Given the description of an element on the screen output the (x, y) to click on. 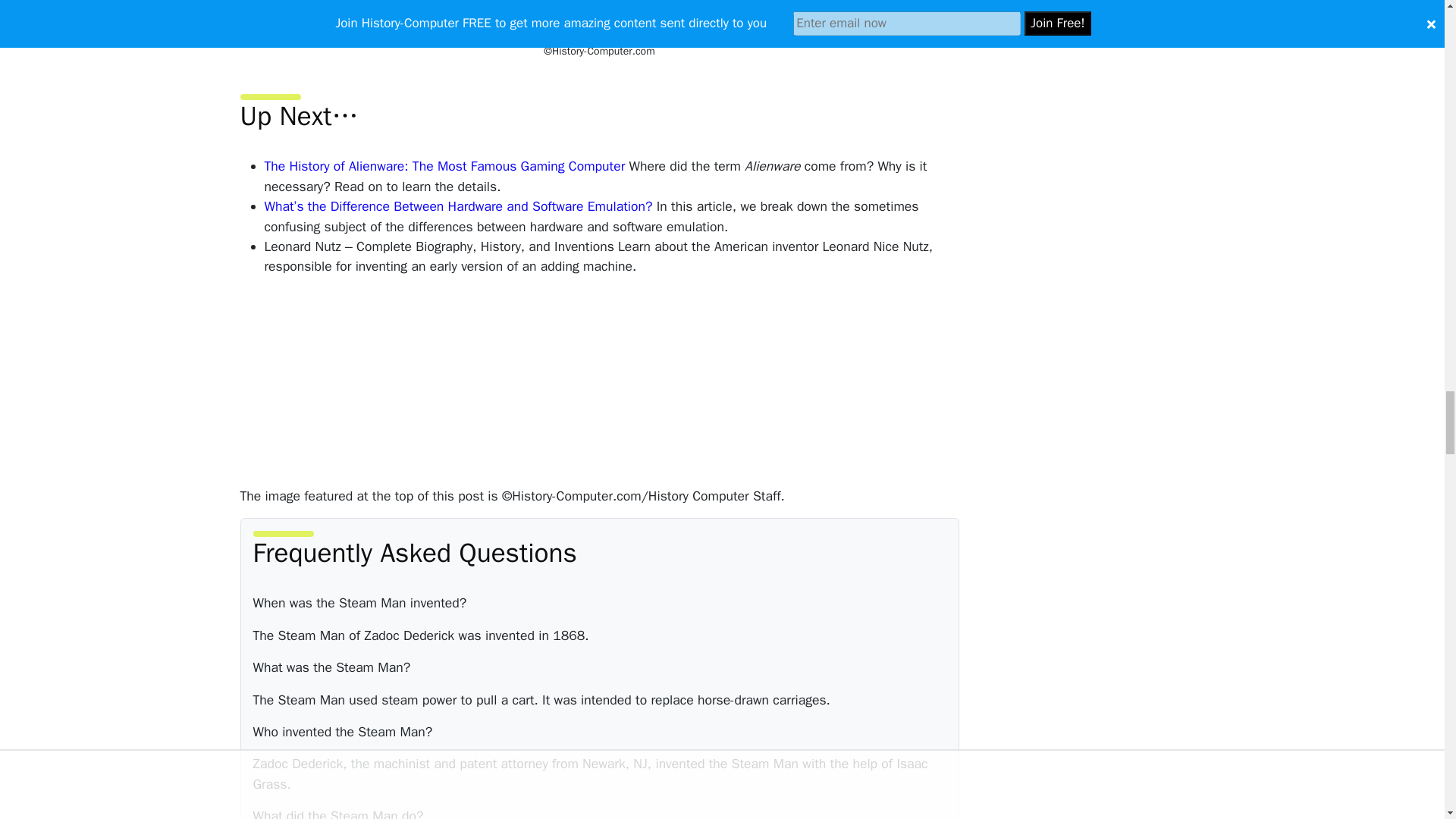
The History of Alienware: The Most Famous Gaming Computer (443, 166)
